Given the description of an element on the screen output the (x, y) to click on. 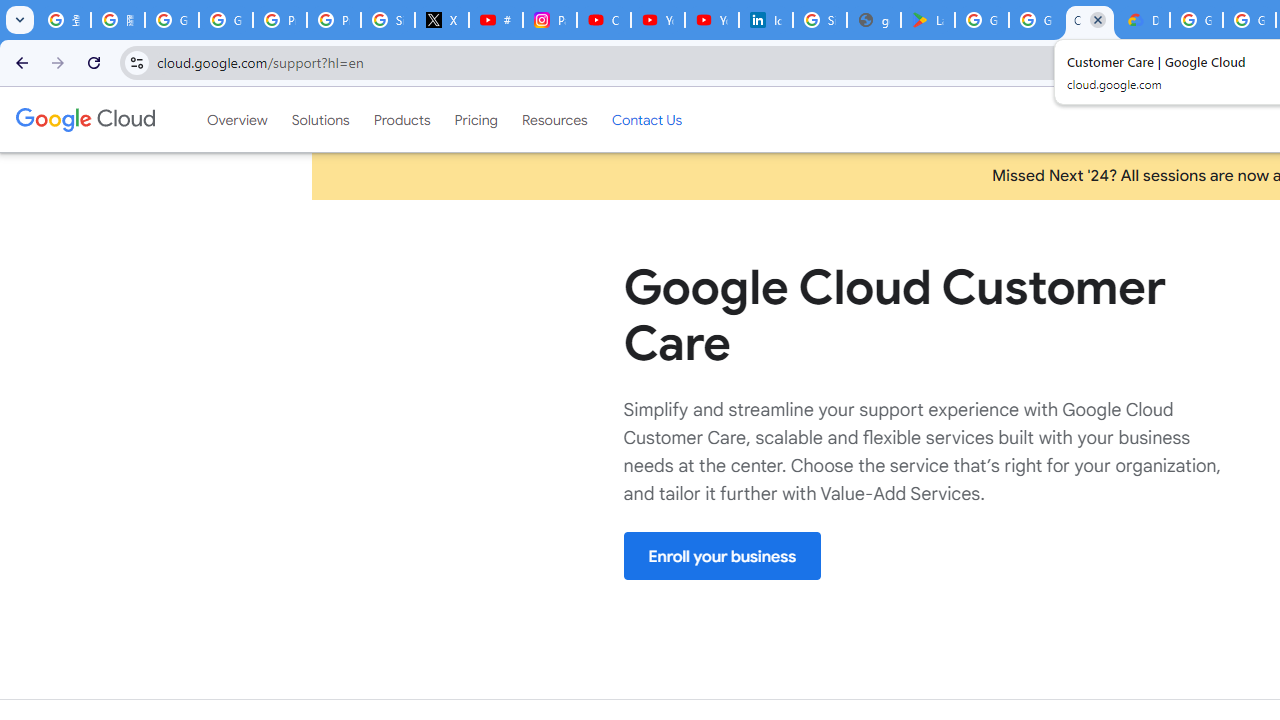
Pricing (476, 119)
Last Shelter: Survival - Apps on Google Play (927, 20)
Google Cloud (84, 119)
